Given the description of an element on the screen output the (x, y) to click on. 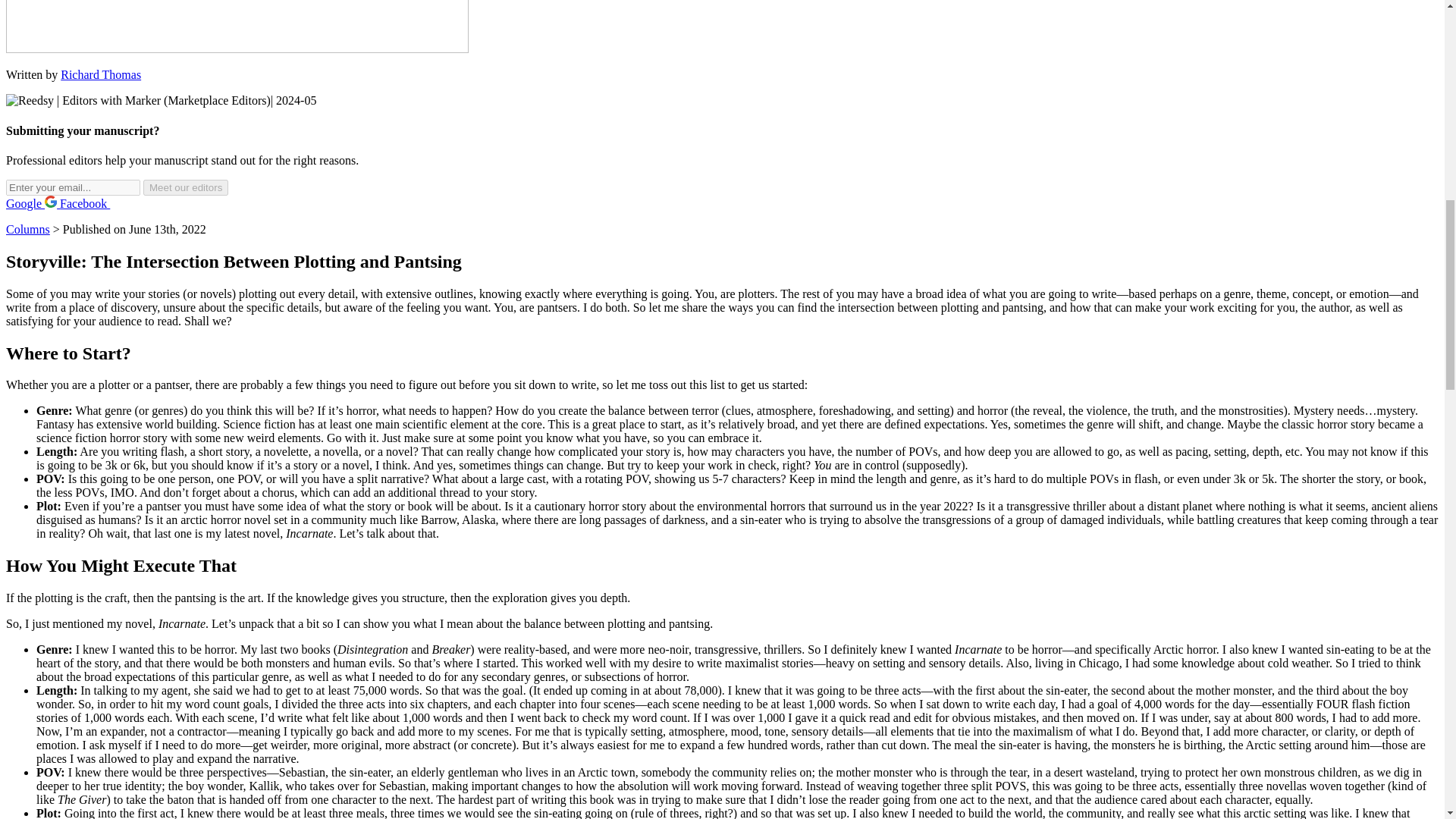
Richard Thomas (101, 74)
Meet our editors (185, 187)
Google (32, 203)
Sign in with Google (32, 203)
Meet our editors (185, 187)
Columns (27, 228)
Sign in with Facebook (90, 203)
Facebook (90, 203)
